Given the description of an element on the screen output the (x, y) to click on. 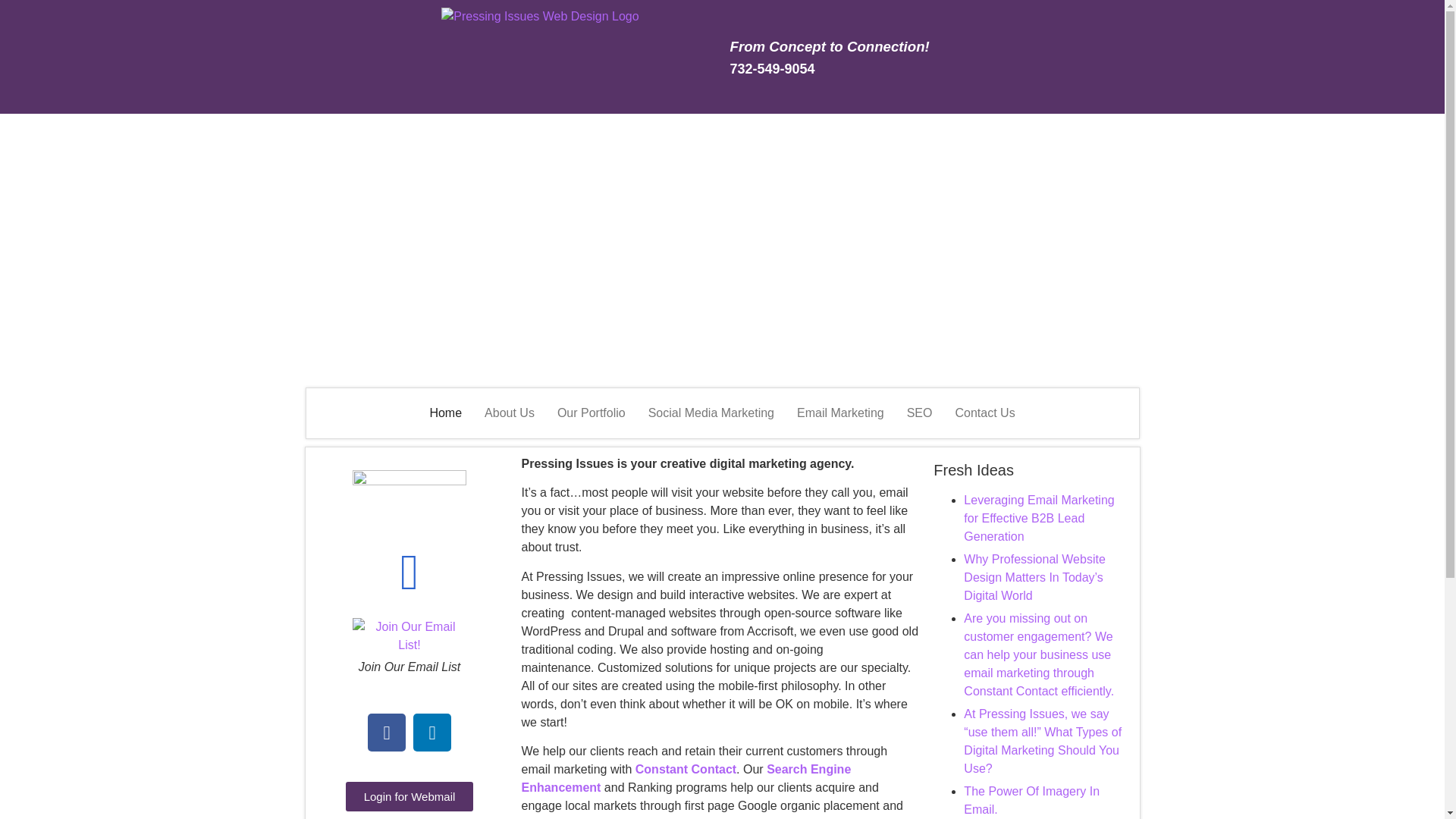
Contact Us (984, 412)
The Power Of Imagery In Email. (1031, 799)
SEO (919, 412)
Email Marketing (840, 412)
Our Portfolio (591, 412)
Home (445, 412)
Login for Webmail (410, 796)
Social Media Marketing (711, 412)
About Us (509, 412)
Leveraging Email Marketing for Effective B2B Lead Generation (1038, 517)
Constant Contact (685, 768)
Search Engine Enhancement (686, 777)
